Given the description of an element on the screen output the (x, y) to click on. 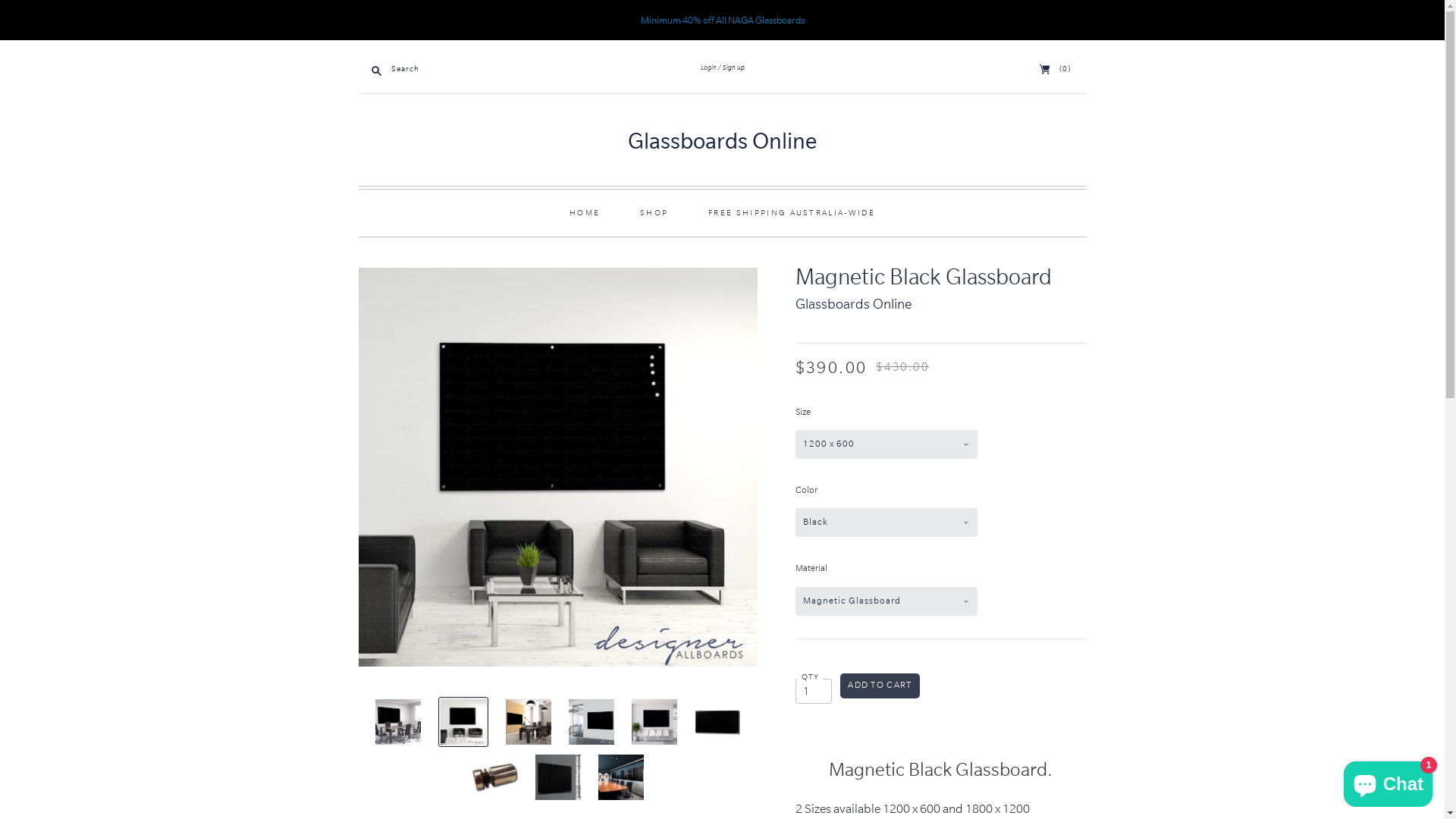
Add to Cart Element type: text (880, 685)
HOME Element type: text (584, 212)
(0) Element type: text (1055, 68)
Minimum 40% off All NAGA Glassboards Element type: text (722, 20)
FREE SHIPPING AUSTRALIA-WIDE Element type: text (791, 212)
SHOP Element type: text (653, 212)
Shopify online store chat Element type: hover (1388, 780)
Glassboards Online Element type: text (721, 140)
Sign up Element type: text (730, 67)
Glassboards Online Element type: text (852, 303)
